Given the description of an element on the screen output the (x, y) to click on. 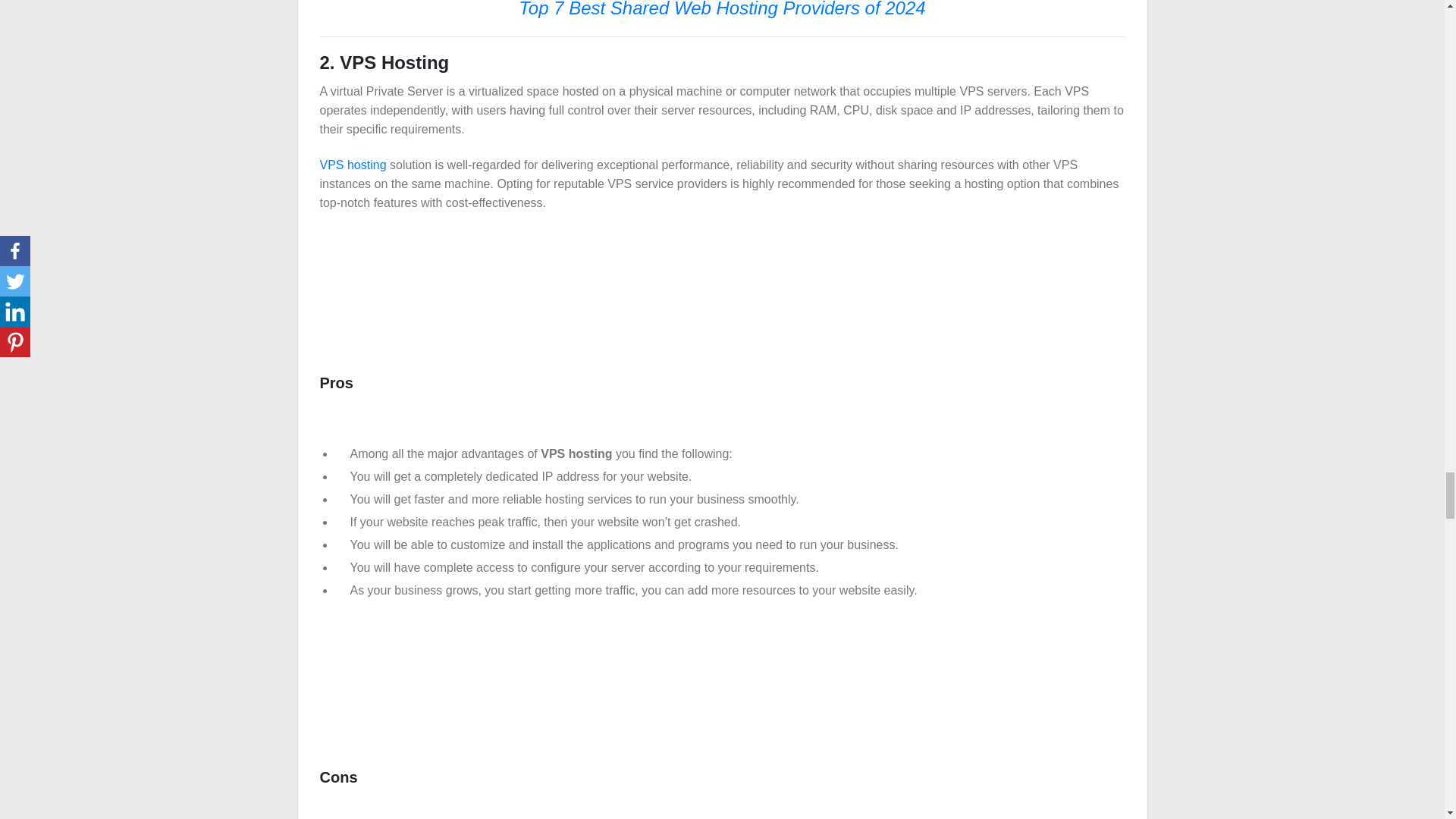
VPS hosting (353, 164)
Top 7 Best Shared Web Hosting Providers of 2024 (721, 10)
